Given the description of an element on the screen output the (x, y) to click on. 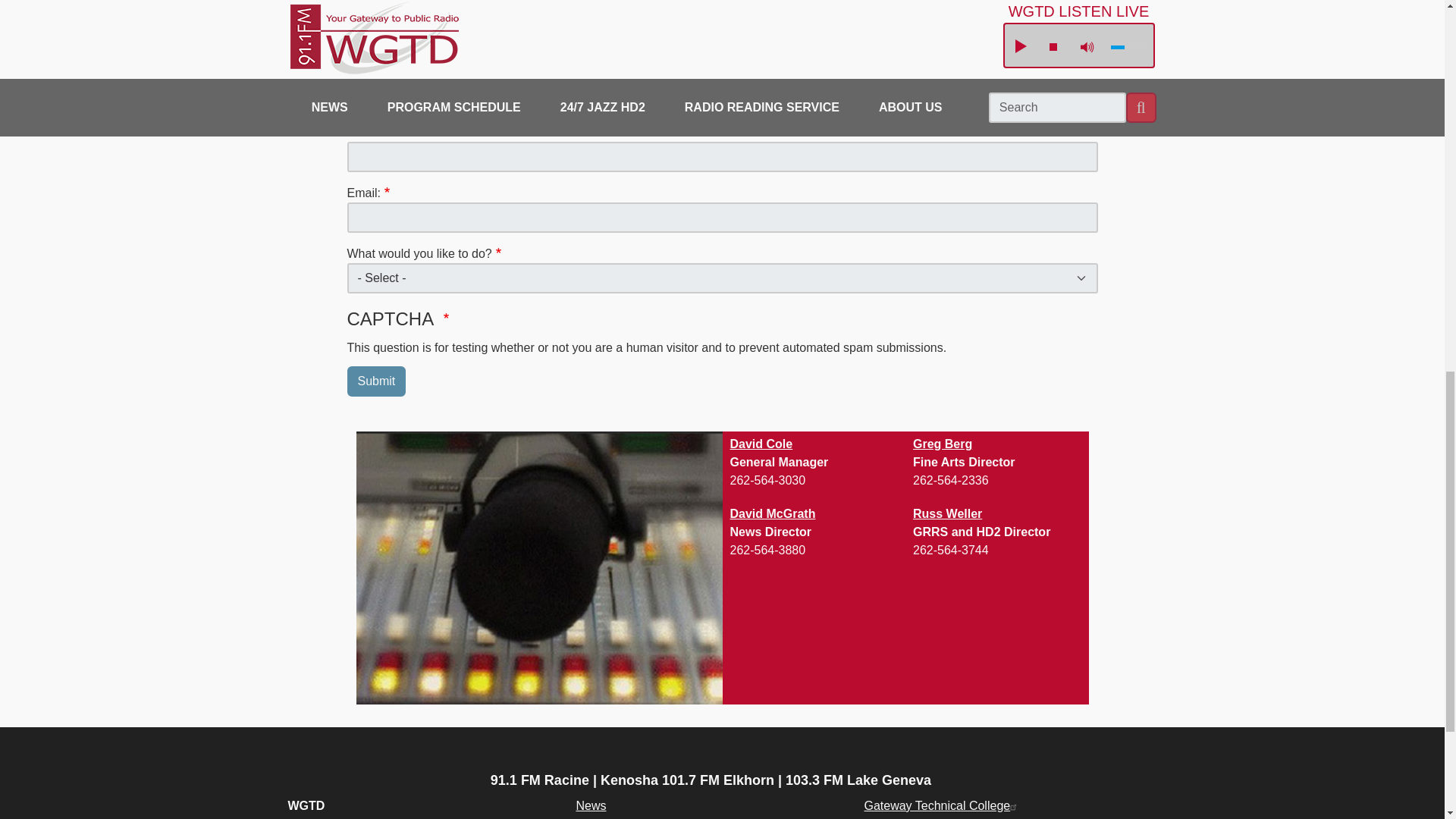
Submit (376, 381)
Russ Weller (946, 513)
Program Schedule (626, 818)
News (590, 805)
David Cole (760, 443)
Greg Berg (942, 443)
David McGrath (772, 513)
